Given the description of an element on the screen output the (x, y) to click on. 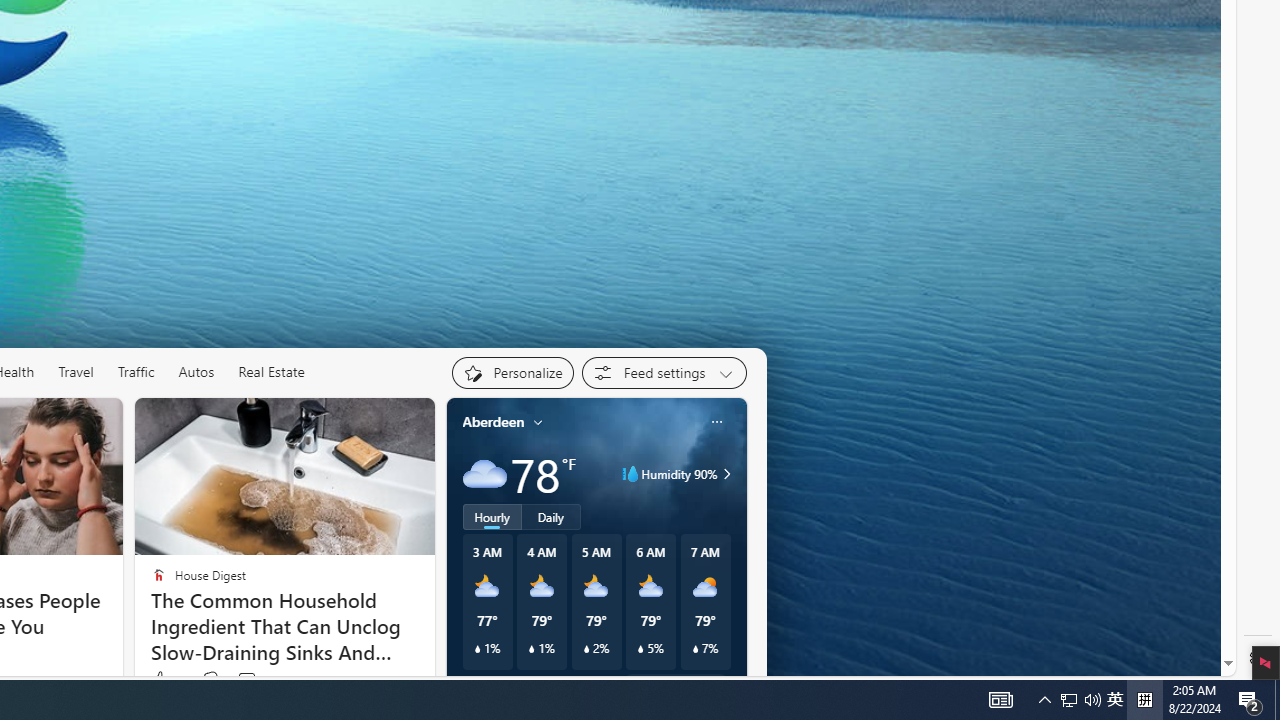
Travel (76, 371)
View comments 116 Comment (246, 679)
Class: weather-arrow-glyph (726, 474)
Personalize your feed" (511, 372)
Autos (196, 371)
My location (538, 421)
Daily (550, 516)
Real Estate (271, 372)
Hourly (492, 516)
See full forecast (674, 685)
Cloudy (484, 474)
